Given the description of an element on the screen output the (x, y) to click on. 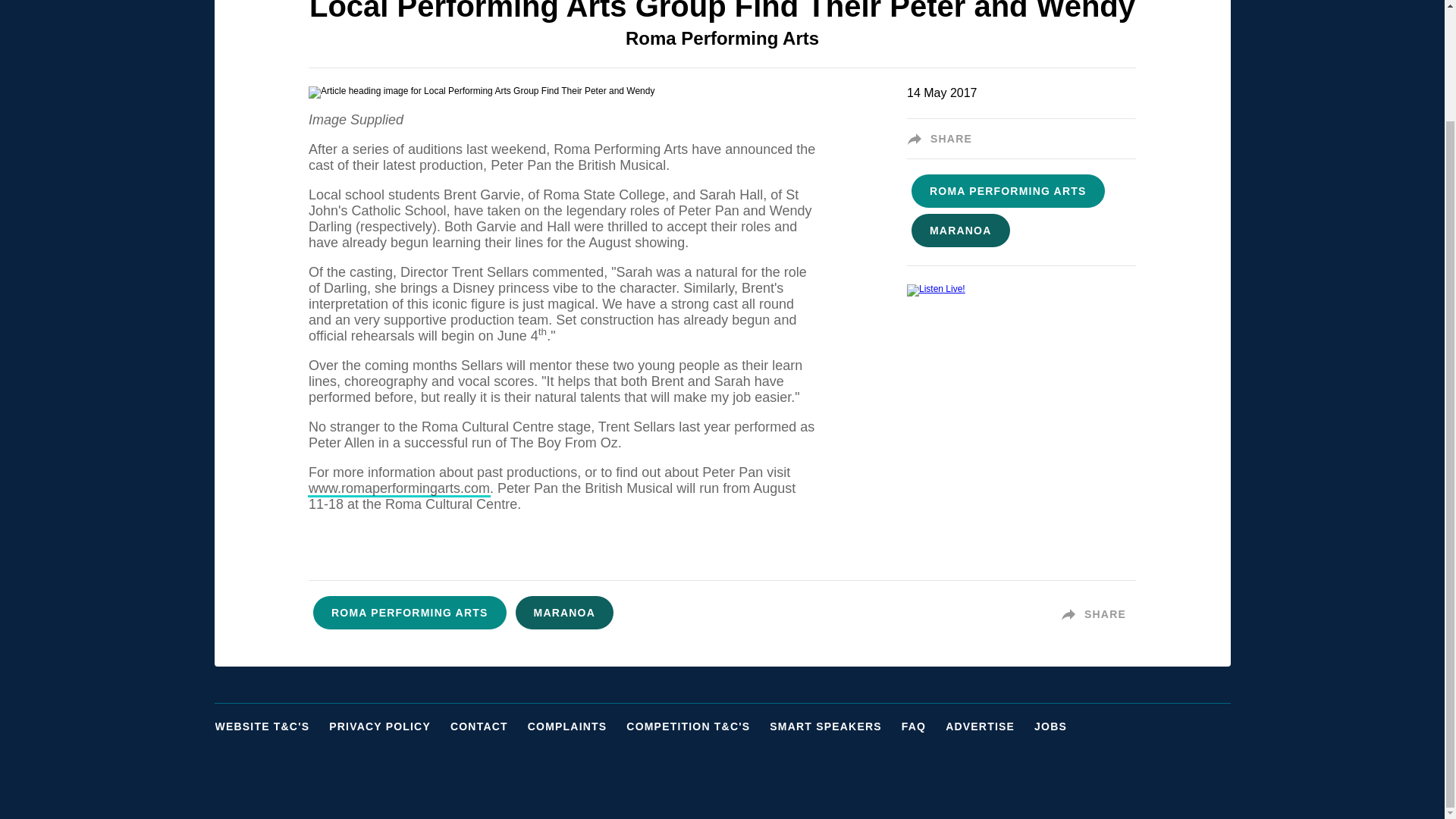
ROMA PERFORMING ARTS (409, 613)
MARANOA (960, 231)
PRIVACY POLICY (389, 726)
ROMA PERFORMING ARTS (1008, 191)
SHARE (944, 138)
MARANOA (564, 613)
COMPLAINTS (576, 726)
SMART SPEAKERS (833, 726)
FAQ (922, 726)
JOBS (1059, 726)
CONTACT (488, 726)
ADVERTISE (988, 726)
www.romaperformingarts.com (398, 488)
SHARE (1098, 614)
